Given the description of an element on the screen output the (x, y) to click on. 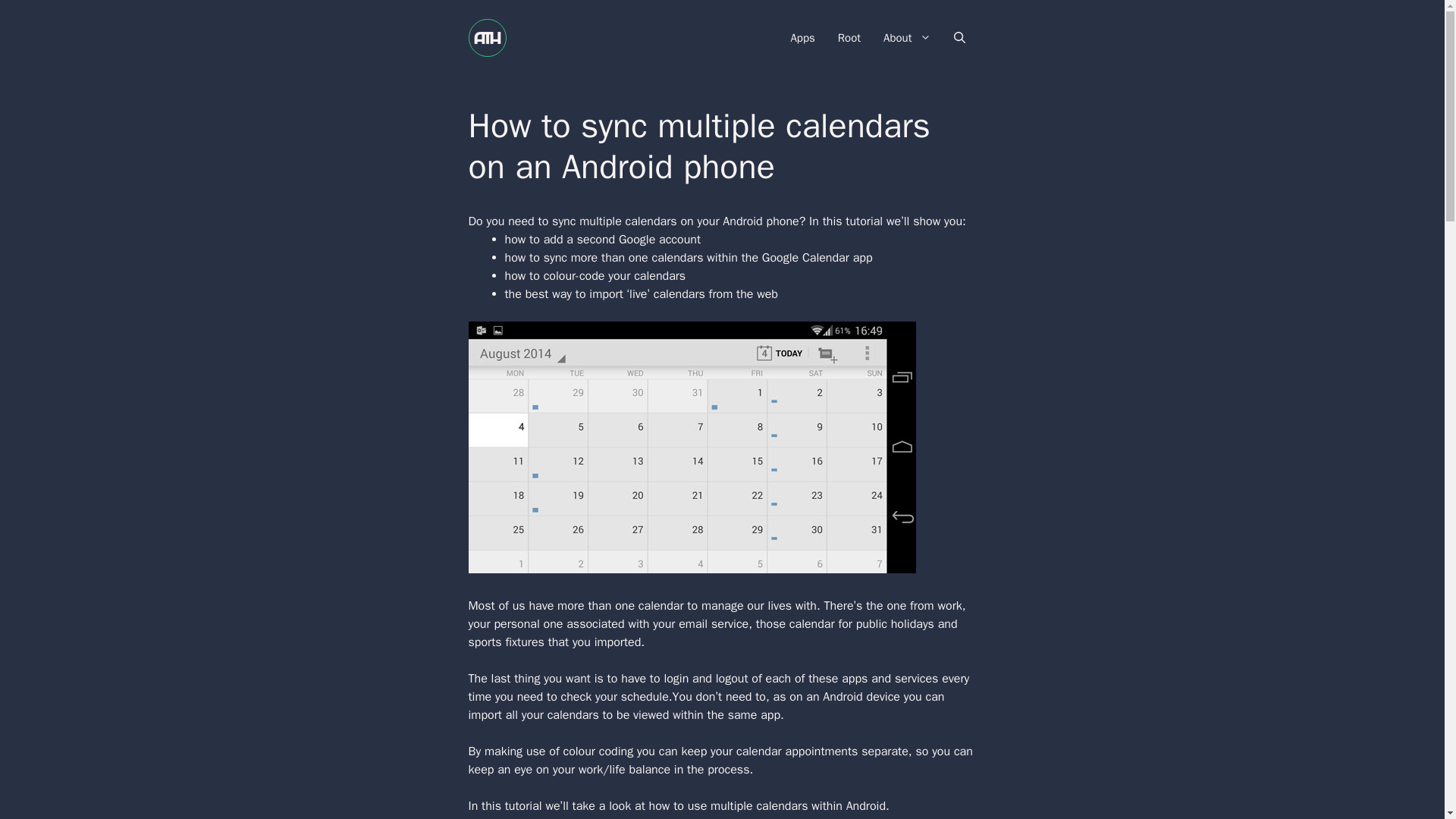
Apps (801, 37)
About (907, 37)
Root (849, 37)
